Given the description of an element on the screen output the (x, y) to click on. 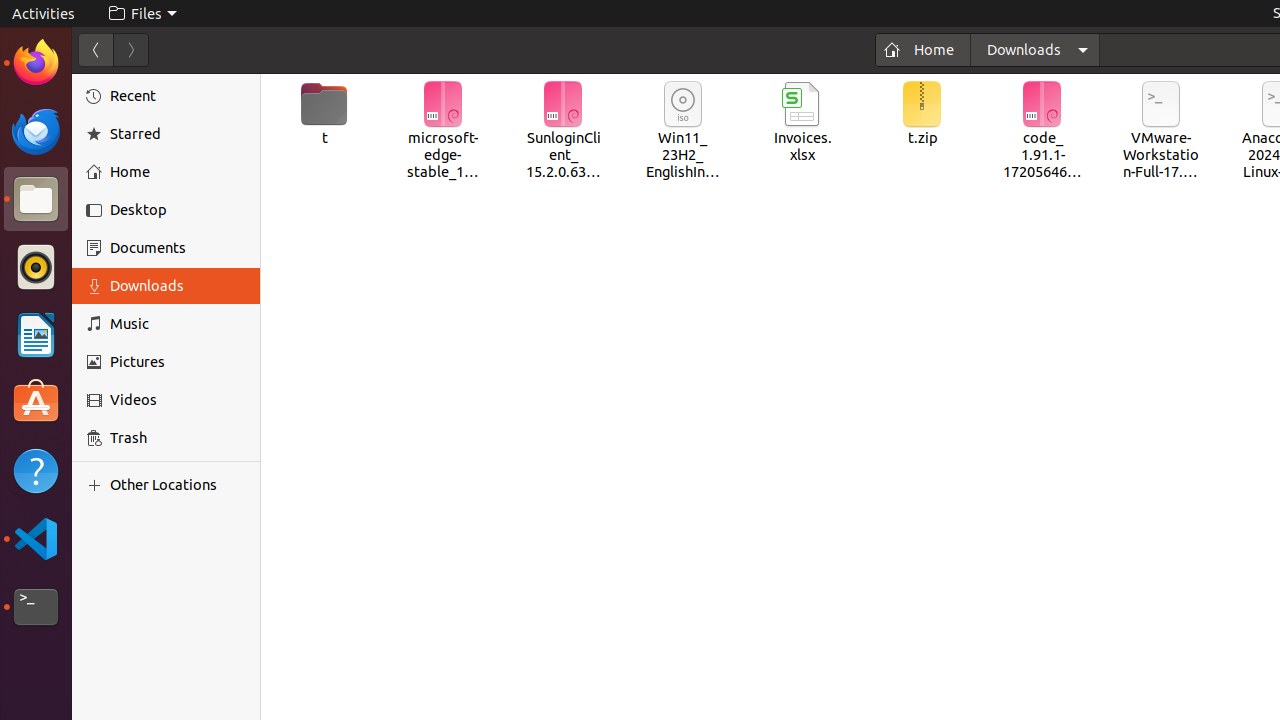
microsoft-edge-stable_128.0.2739.67-1_amd64.deb Element type: canvas (444, 131)
t.zip Element type: canvas (922, 114)
t Element type: canvas (323, 114)
Starred Element type: label (178, 134)
Downloads Element type: push-button (1035, 50)
